Given the description of an element on the screen output the (x, y) to click on. 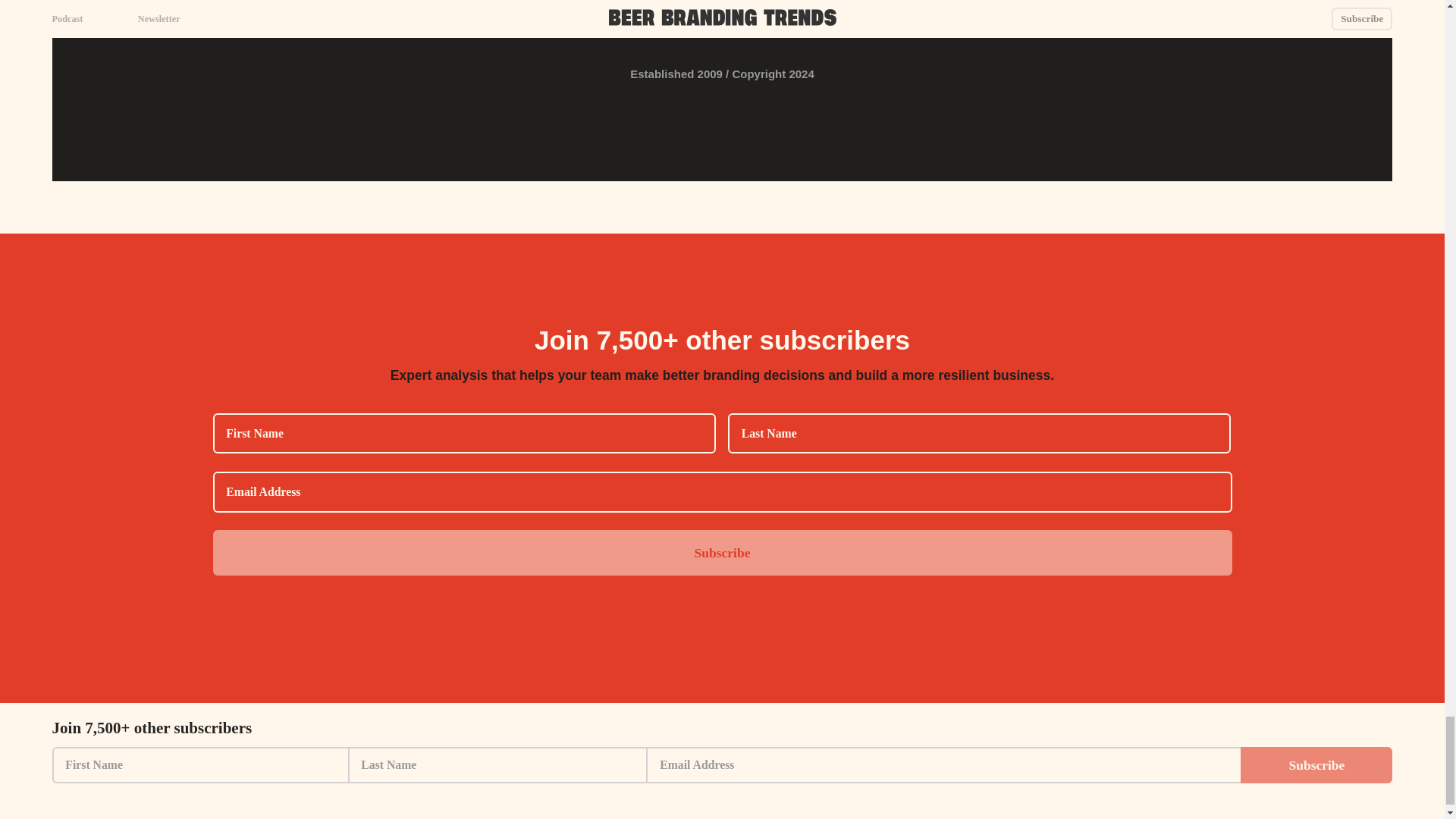
Subscribe (721, 552)
